Given the description of an element on the screen output the (x, y) to click on. 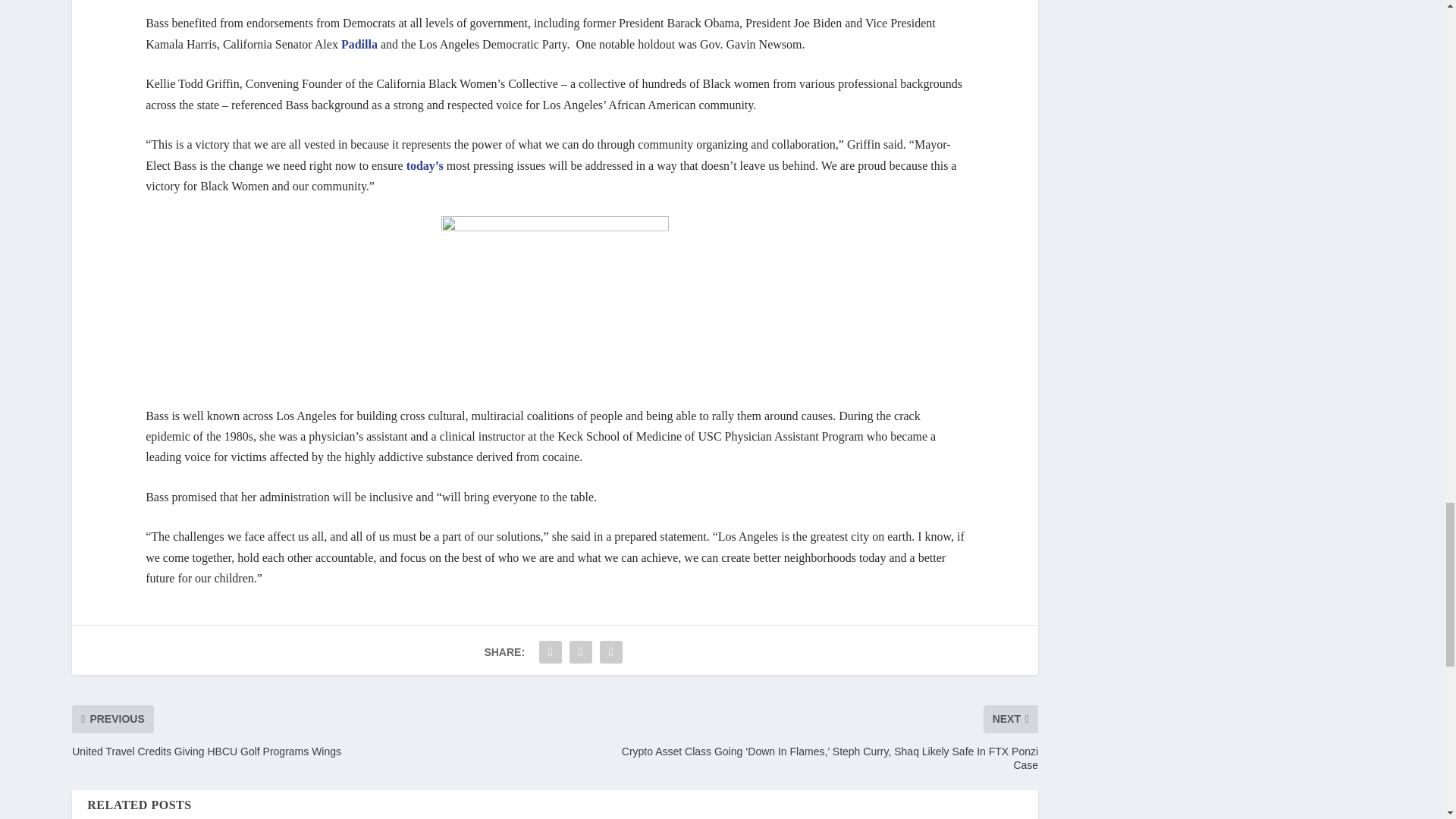
Padilla (358, 43)
